Given the description of an element on the screen output the (x, y) to click on. 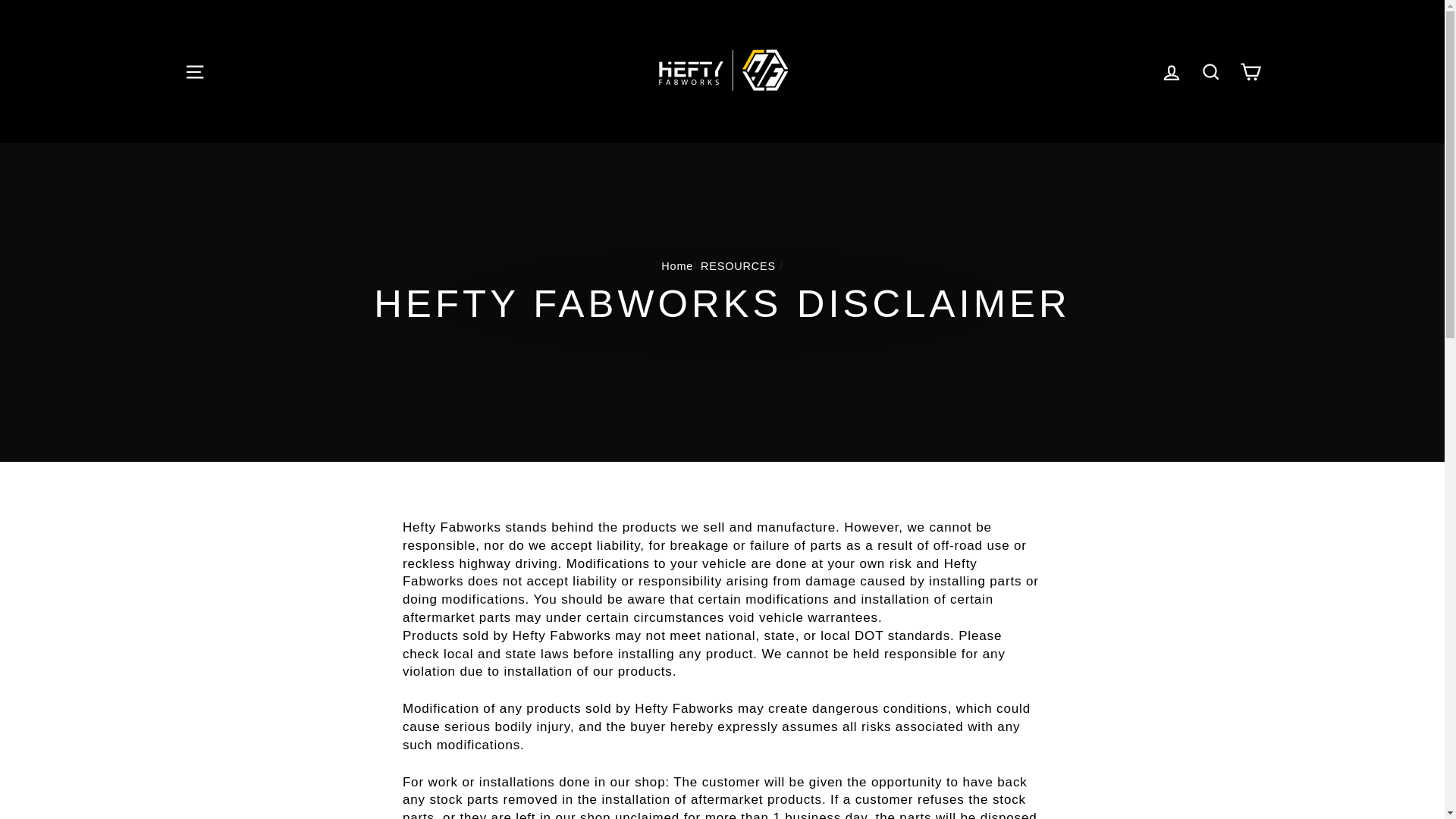
Back to the frontpage (677, 265)
